Given the description of an element on the screen output the (x, y) to click on. 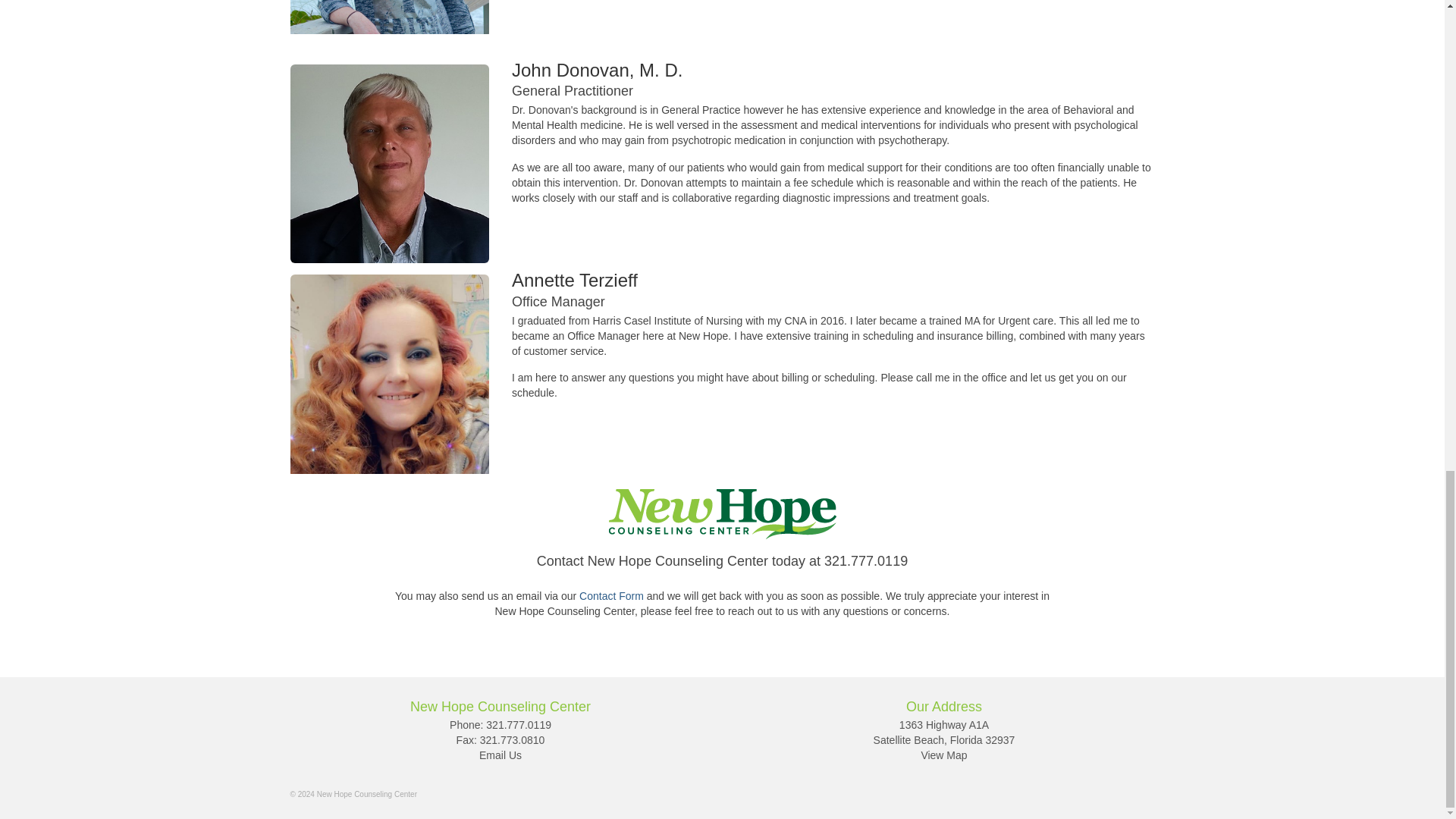
Email Us (500, 755)
View Map (943, 755)
Contact Form (611, 595)
